Given the description of an element on the screen output the (x, y) to click on. 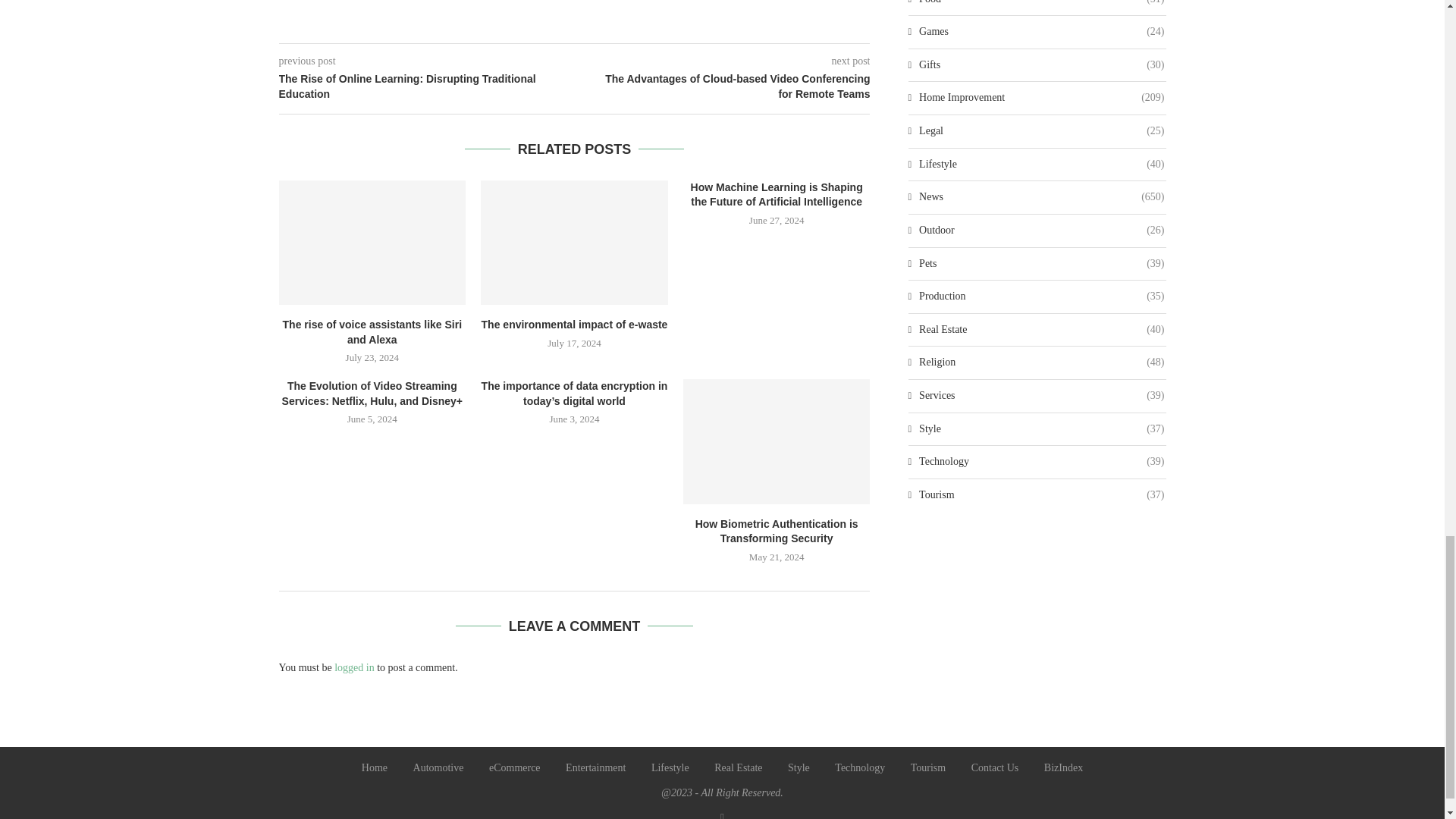
The rise of voice assistants like Siri and Alexa (372, 242)
How Biometric Authentication is Transforming Security (776, 441)
The environmental impact of e-waste (574, 242)
